Given the description of an element on the screen output the (x, y) to click on. 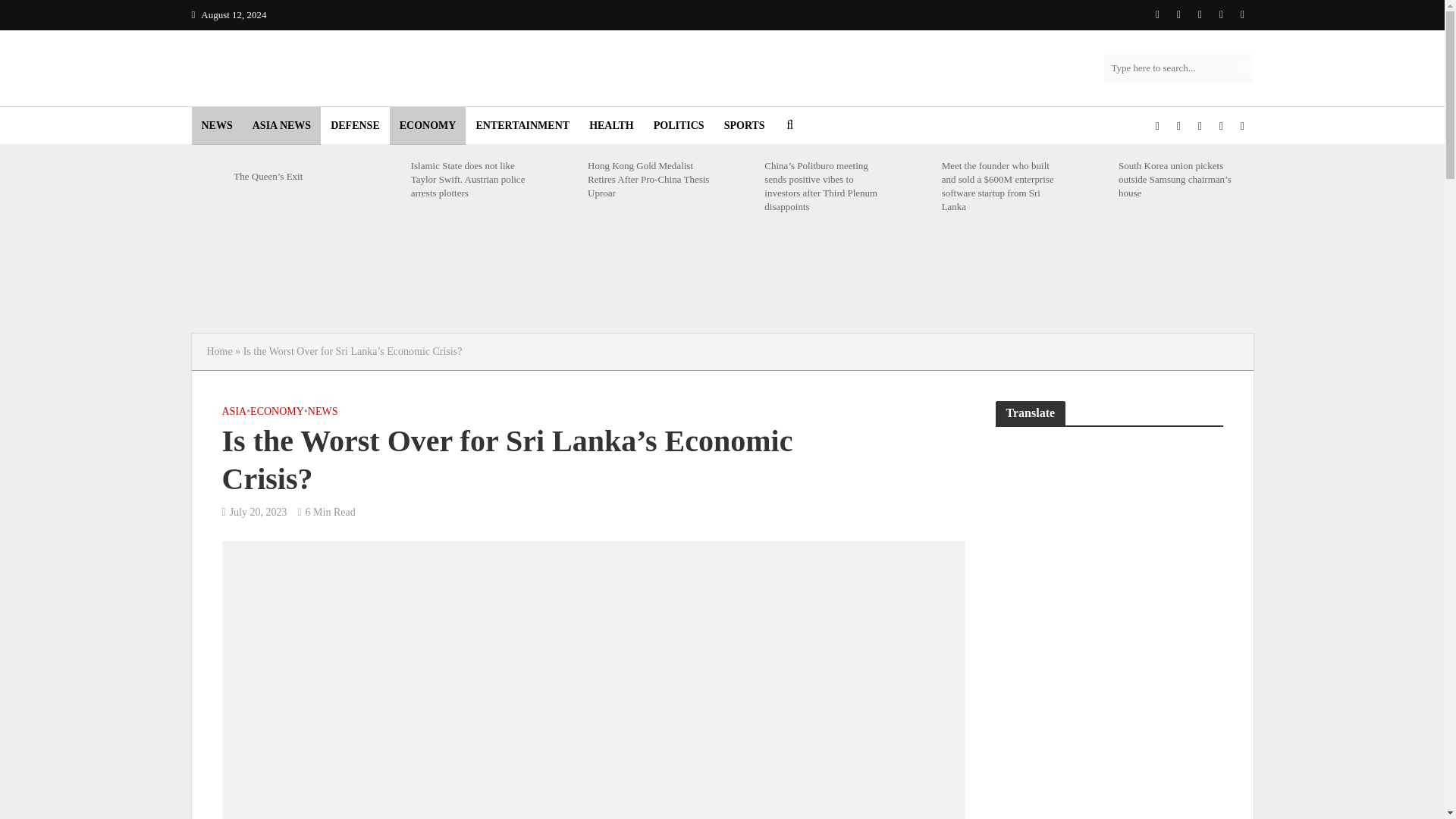
ENTERTAINMENT (522, 125)
HEALTH (611, 125)
DEFENSE (355, 125)
ASIA NEWS (281, 125)
Advertisement (721, 278)
NEWS (215, 125)
